Given the description of an element on the screen output the (x, y) to click on. 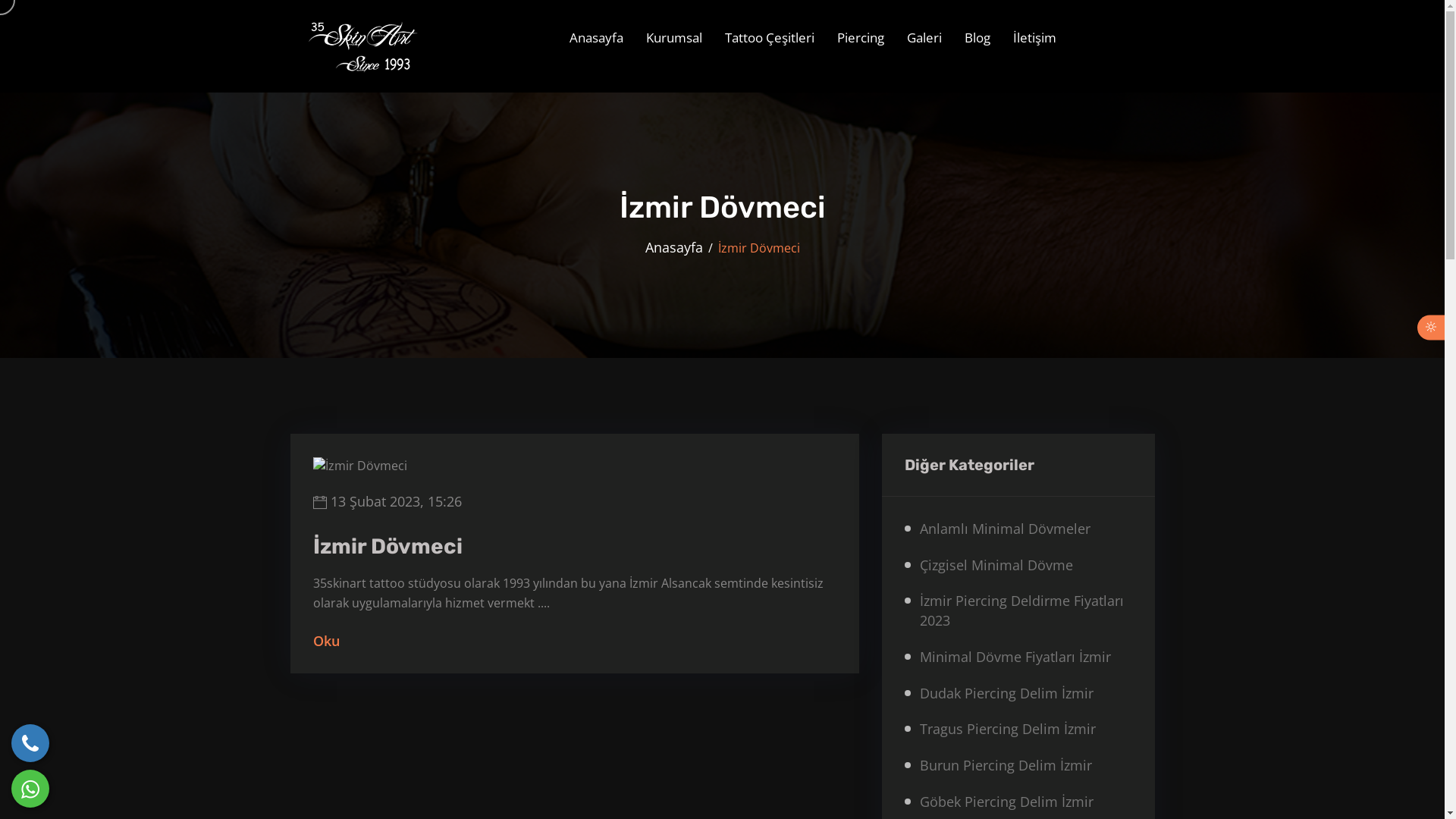
Blog Element type: text (976, 37)
Anasayfa Element type: text (596, 37)
WhatsApp Element type: hover (30, 788)
Galeri Element type: text (923, 37)
Anasayfa Element type: text (673, 247)
Kurumsal Element type: text (672, 37)
Piercing Element type: text (859, 37)
Oku Element type: text (325, 640)
Telefon Element type: hover (30, 743)
